Given the description of an element on the screen output the (x, y) to click on. 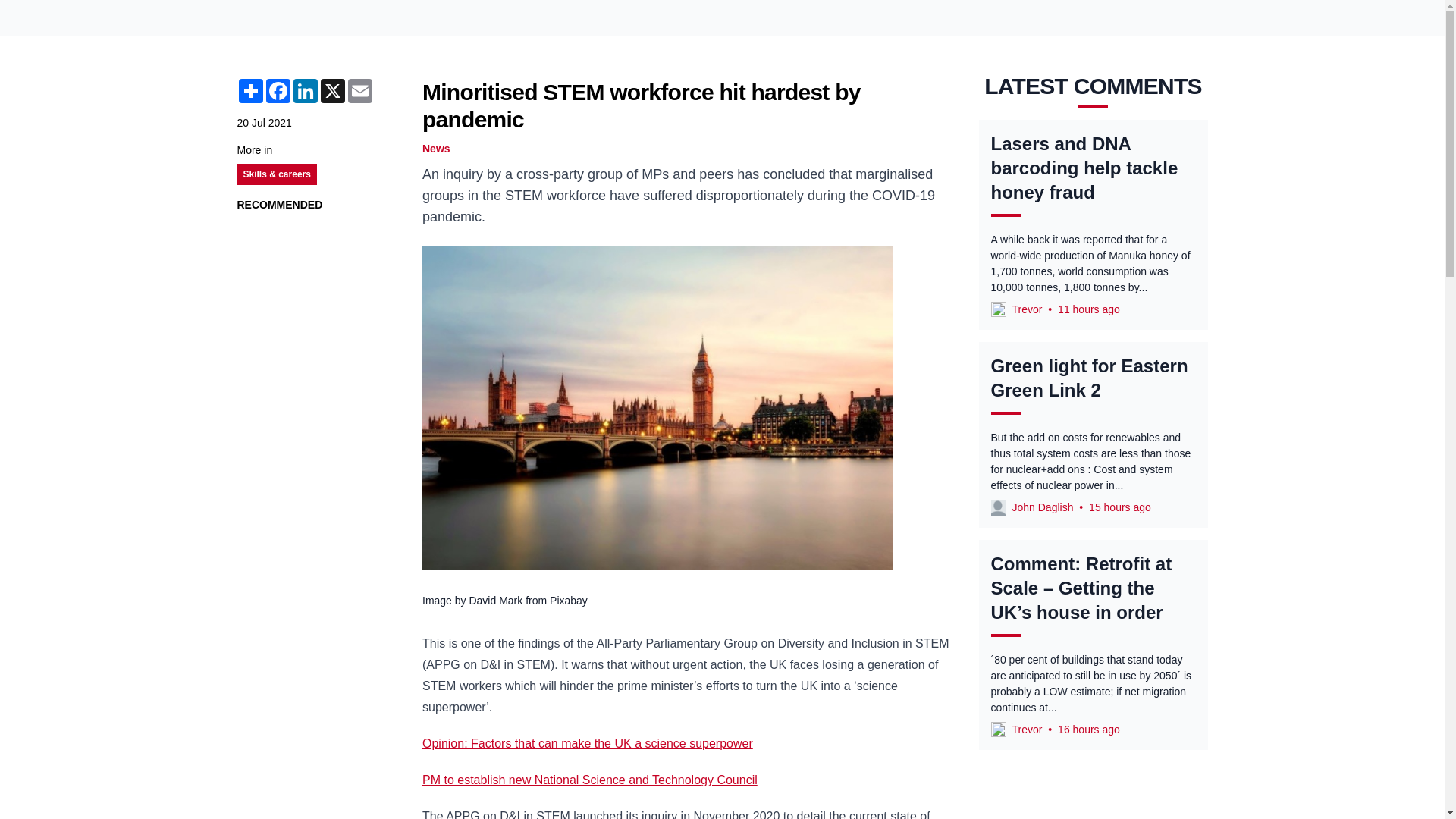
LinkedIn (304, 90)
Facebook (277, 90)
Email (359, 90)
X (332, 90)
